Given the description of an element on the screen output the (x, y) to click on. 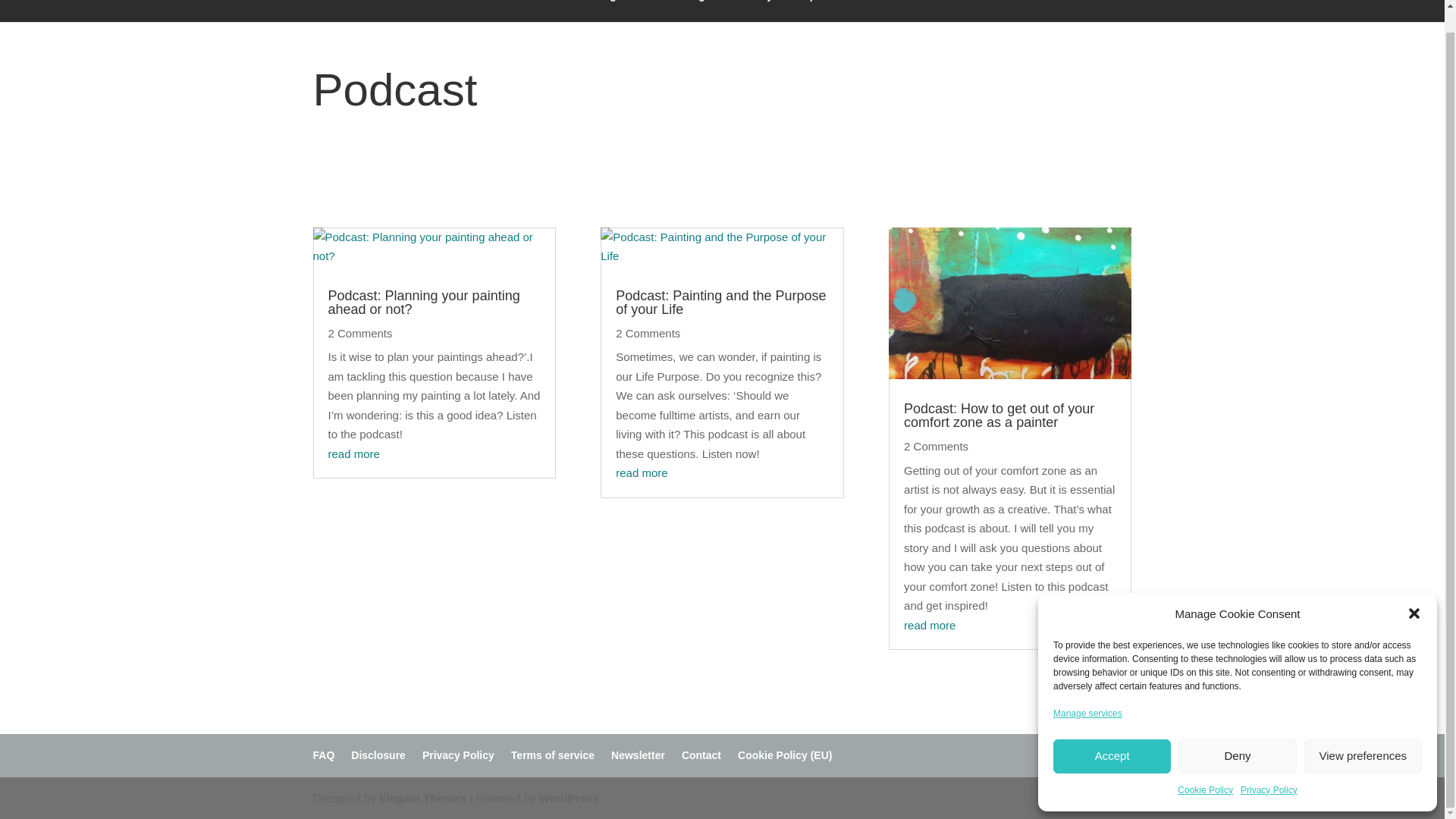
Tools (853, 11)
Premium WordPress Themes (421, 797)
Praise (649, 11)
Online Courses (485, 11)
Accept (1111, 732)
Deny (1236, 732)
Cookie Policy (1205, 768)
View preferences (1363, 732)
Privacy Policy (1268, 768)
About (996, 11)
